Given the description of an element on the screen output the (x, y) to click on. 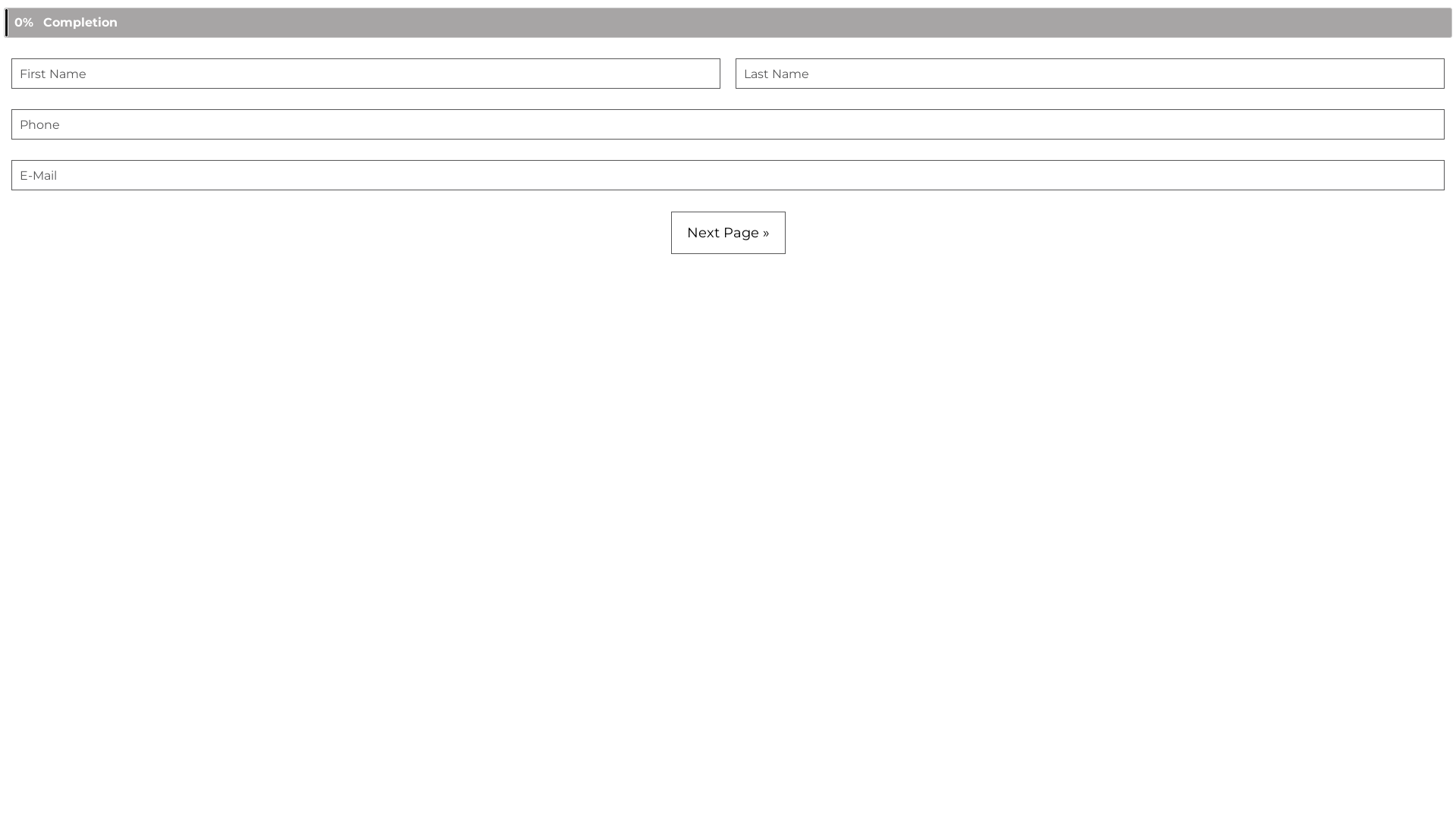
Phone Element type: text (727, 124)
First Name Element type: text (365, 73)
E-Mail Element type: text (727, 175)
Last Name Element type: text (1089, 73)
